Given the description of an element on the screen output the (x, y) to click on. 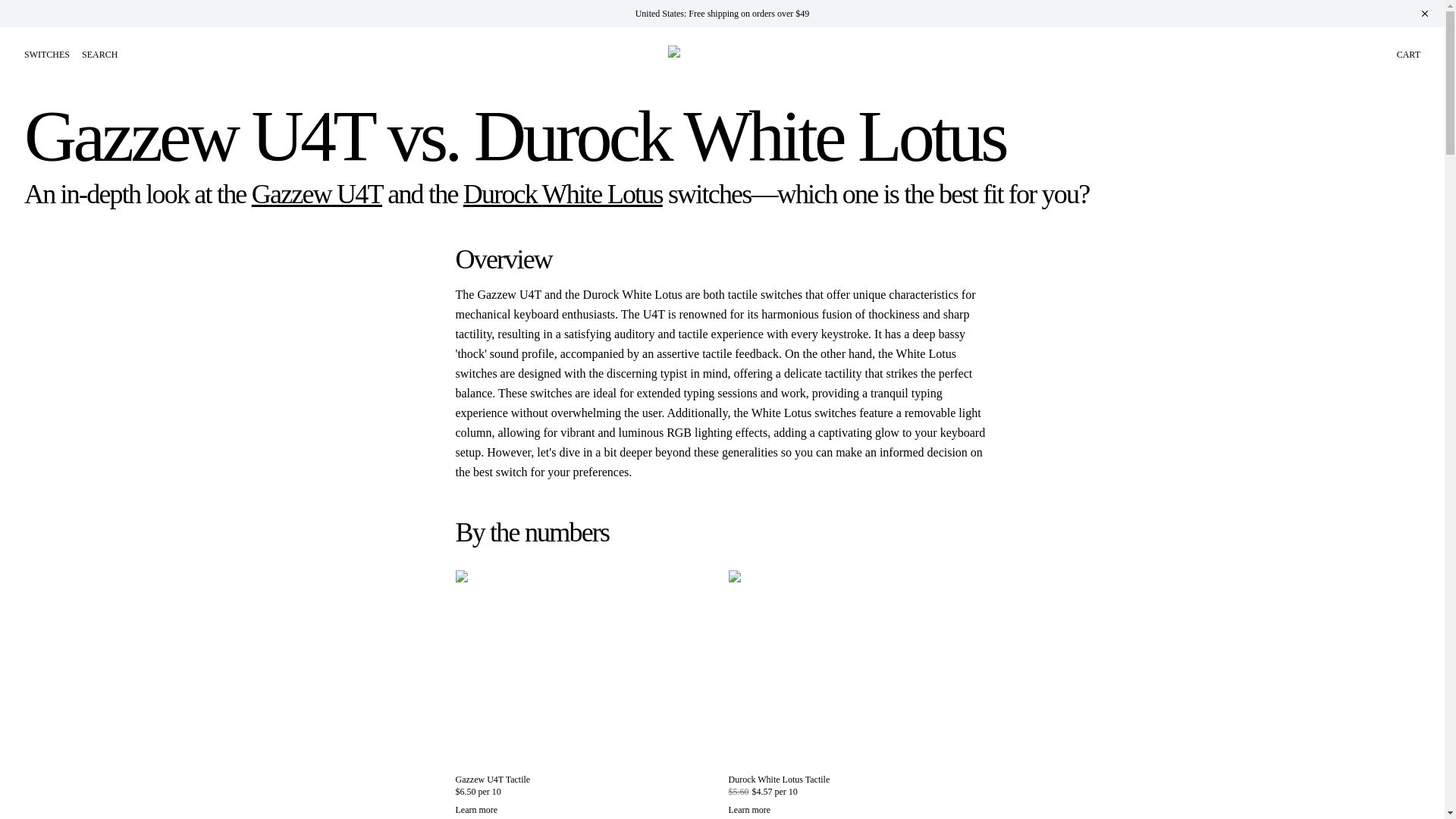
Durock White Lotus Tactile (778, 778)
SEARCH (99, 54)
Learn more (858, 809)
Durock White Lotus (562, 194)
SWITCHES (46, 54)
CART (1408, 54)
Learn more (585, 809)
Gazzew U4T (316, 194)
Gazzew U4T Tactile (491, 778)
